Given the description of an element on the screen output the (x, y) to click on. 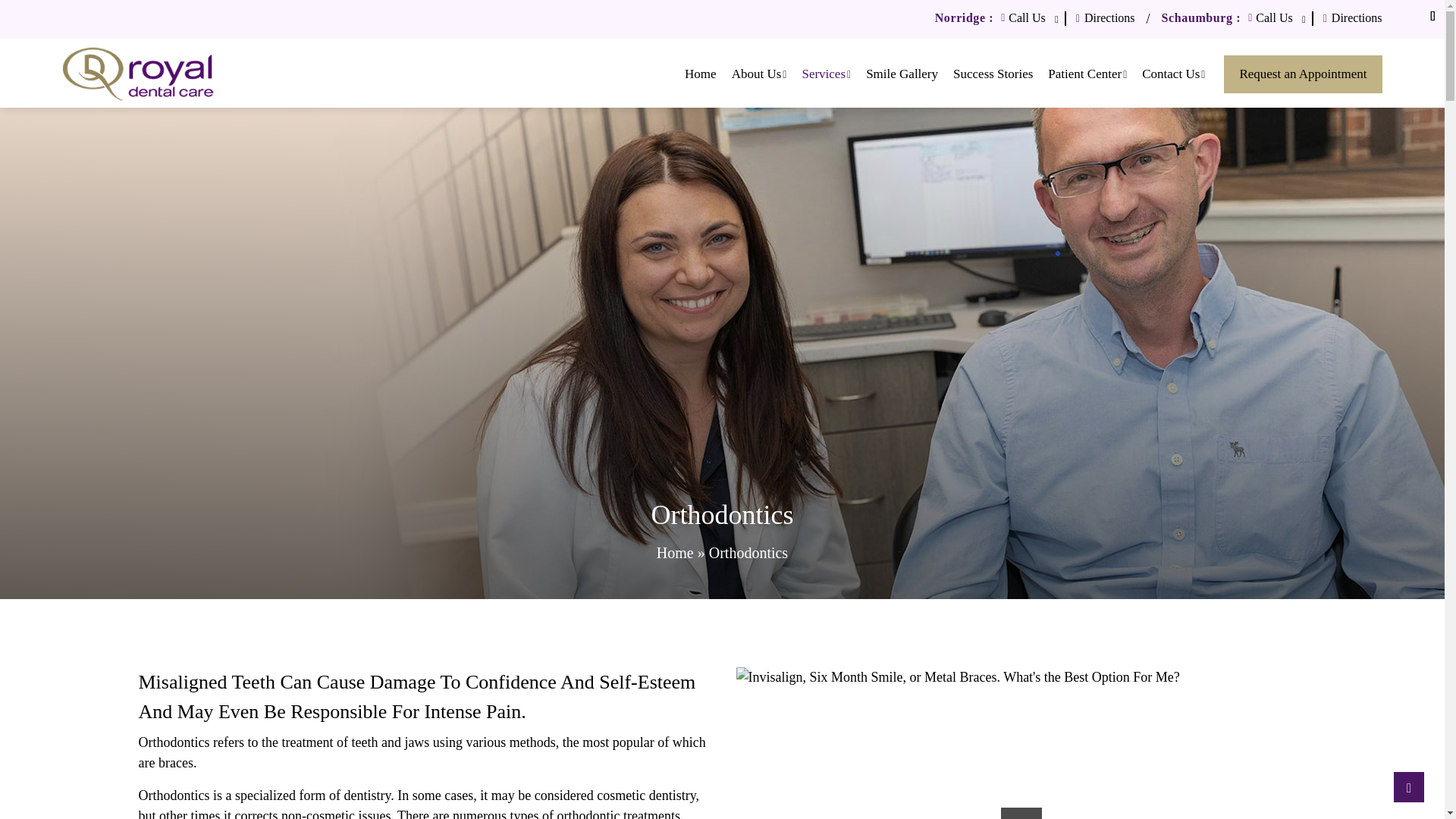
About Us (758, 74)
Directions (1099, 19)
Services (826, 74)
Home (700, 74)
Directions (1346, 19)
